Given the description of an element on the screen output the (x, y) to click on. 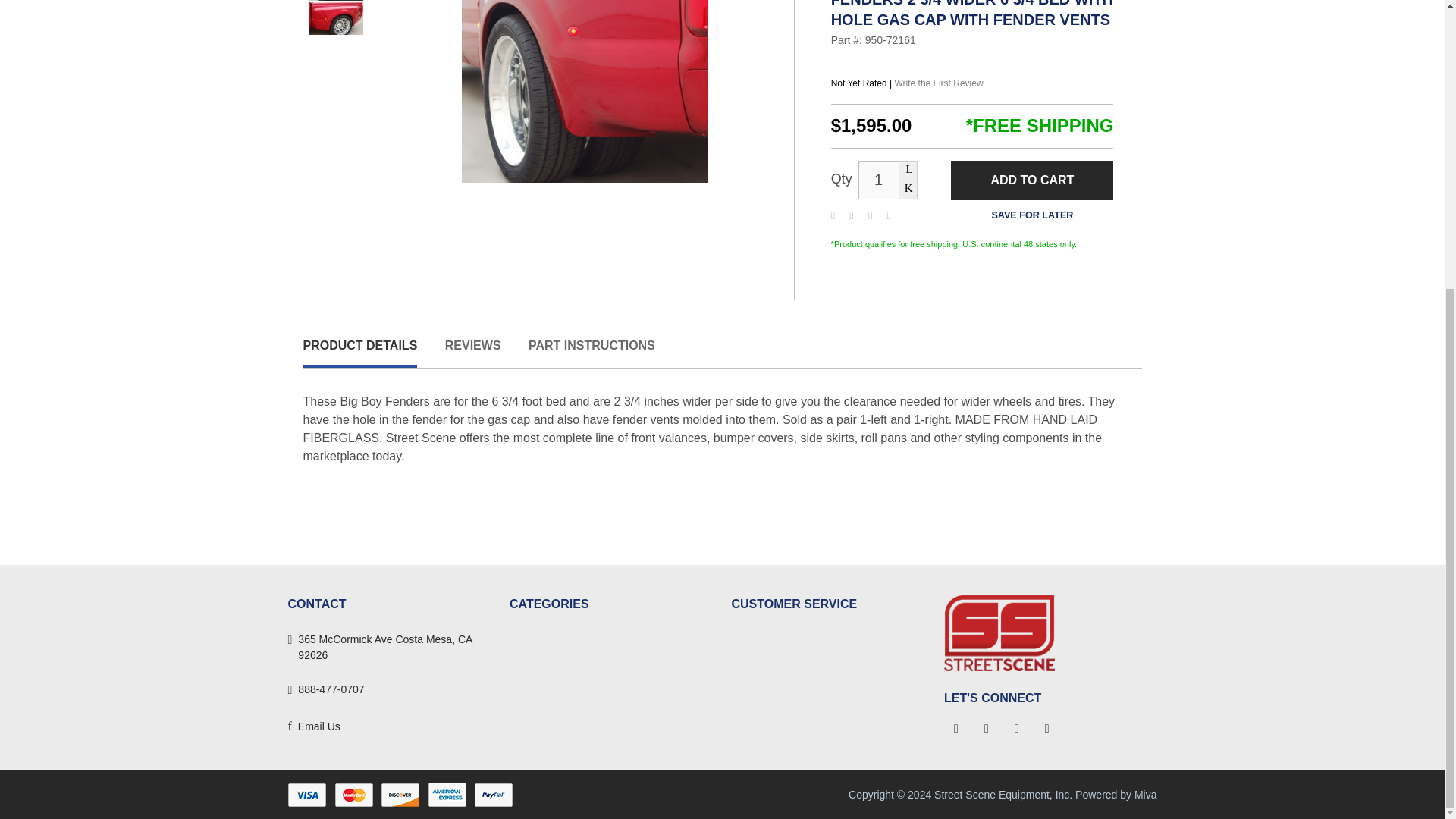
SAVE FOR LATER (1031, 215)
1 (879, 179)
